Given the description of an element on the screen output the (x, y) to click on. 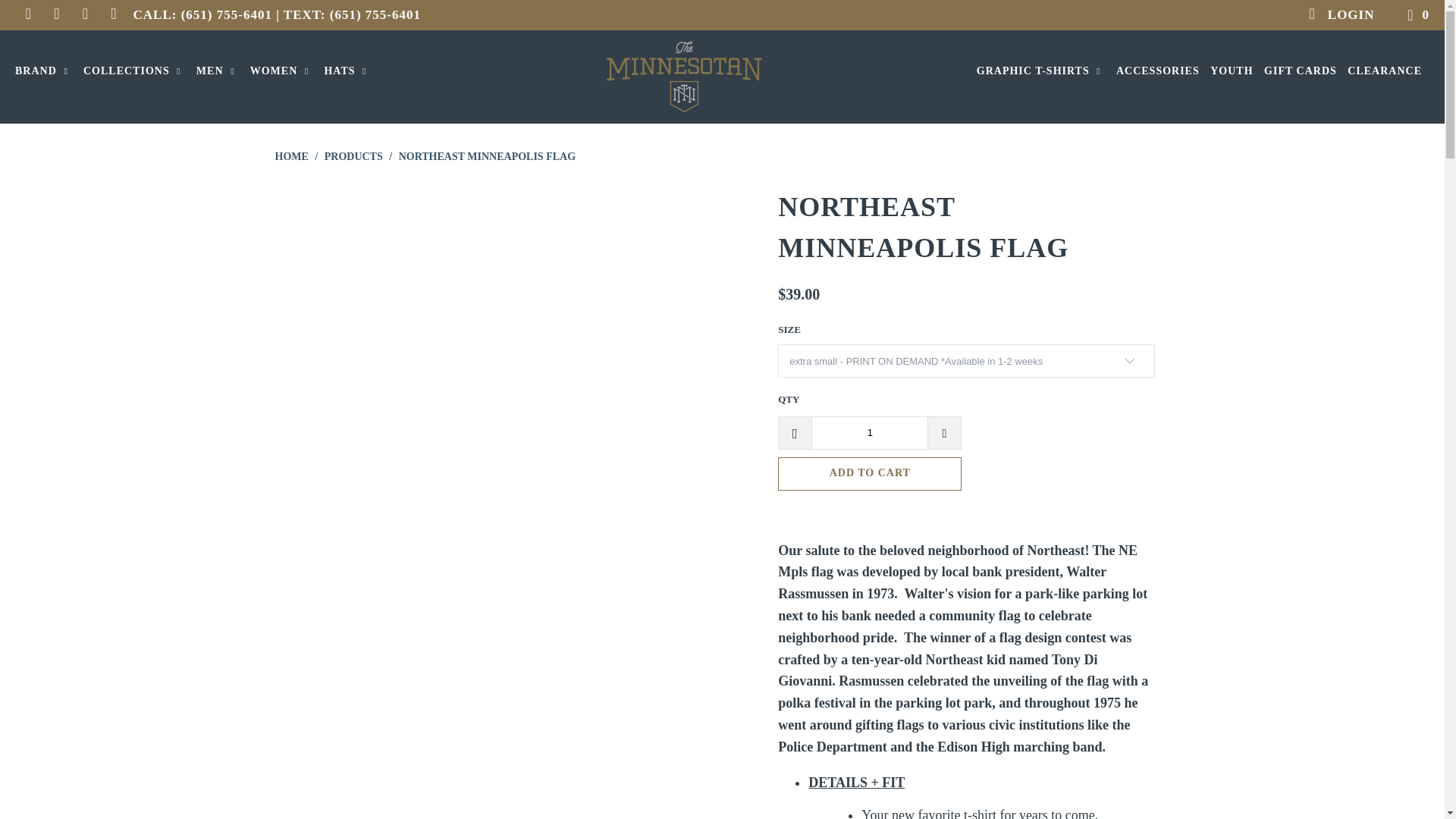
The Minnesotan on YouTube (84, 14)
The Minnesotan (291, 156)
The Minnesotan on Instagram (113, 14)
My Account  (1340, 15)
The Minnesotan (722, 76)
1 (869, 432)
The Minnesotan on Facebook (55, 14)
The Minnesotan on Twitter (27, 14)
Products (353, 156)
